Given the description of an element on the screen output the (x, y) to click on. 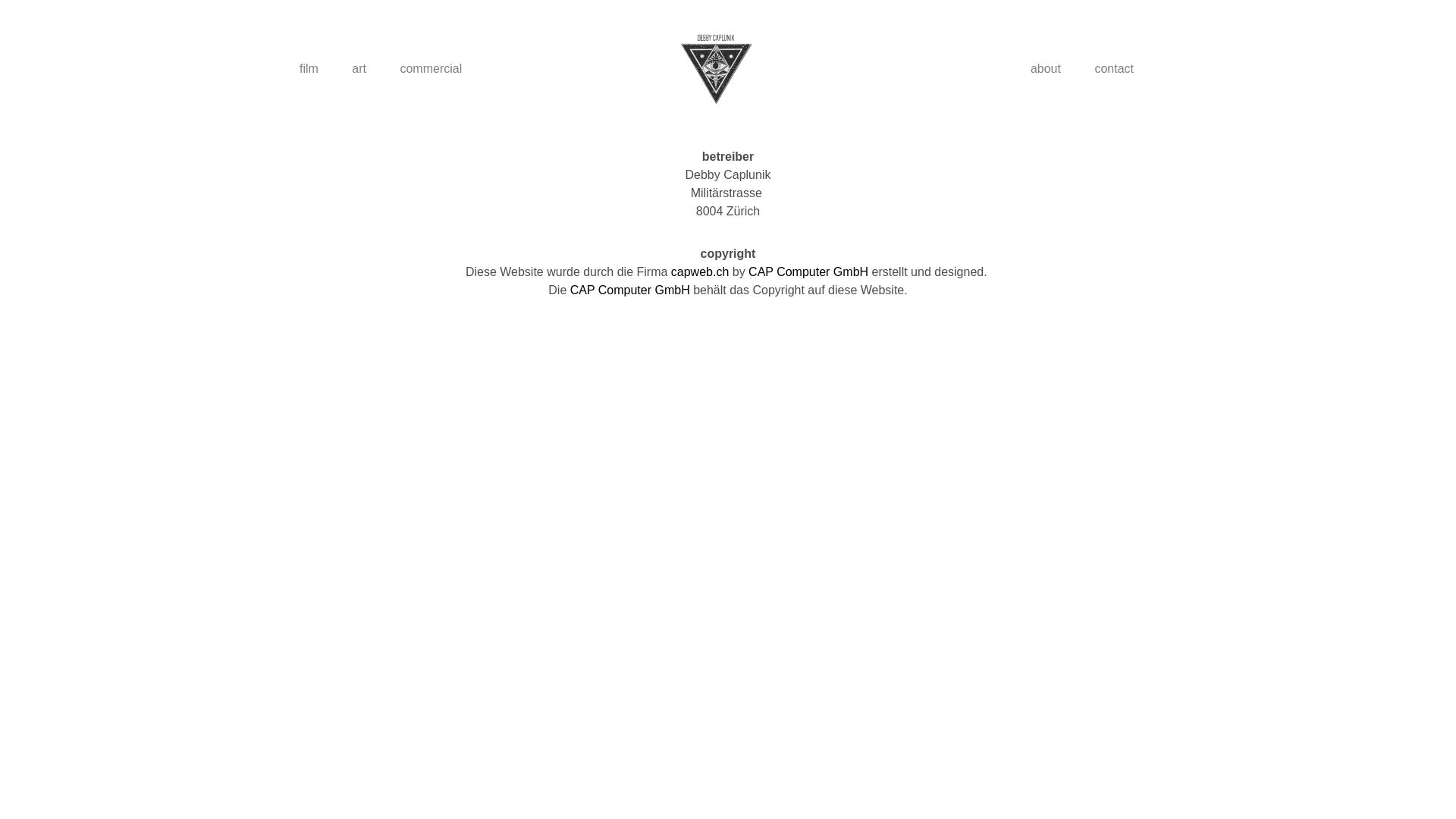
contact Element type: text (1113, 68)
CAP Computer GmbH Element type: text (808, 271)
commercial Element type: text (430, 68)
about Element type: text (1045, 68)
art Element type: text (358, 68)
film Element type: text (308, 68)
CAP Computer GmbH Element type: text (630, 289)
capweb.ch Element type: text (700, 271)
